Given the description of an element on the screen output the (x, y) to click on. 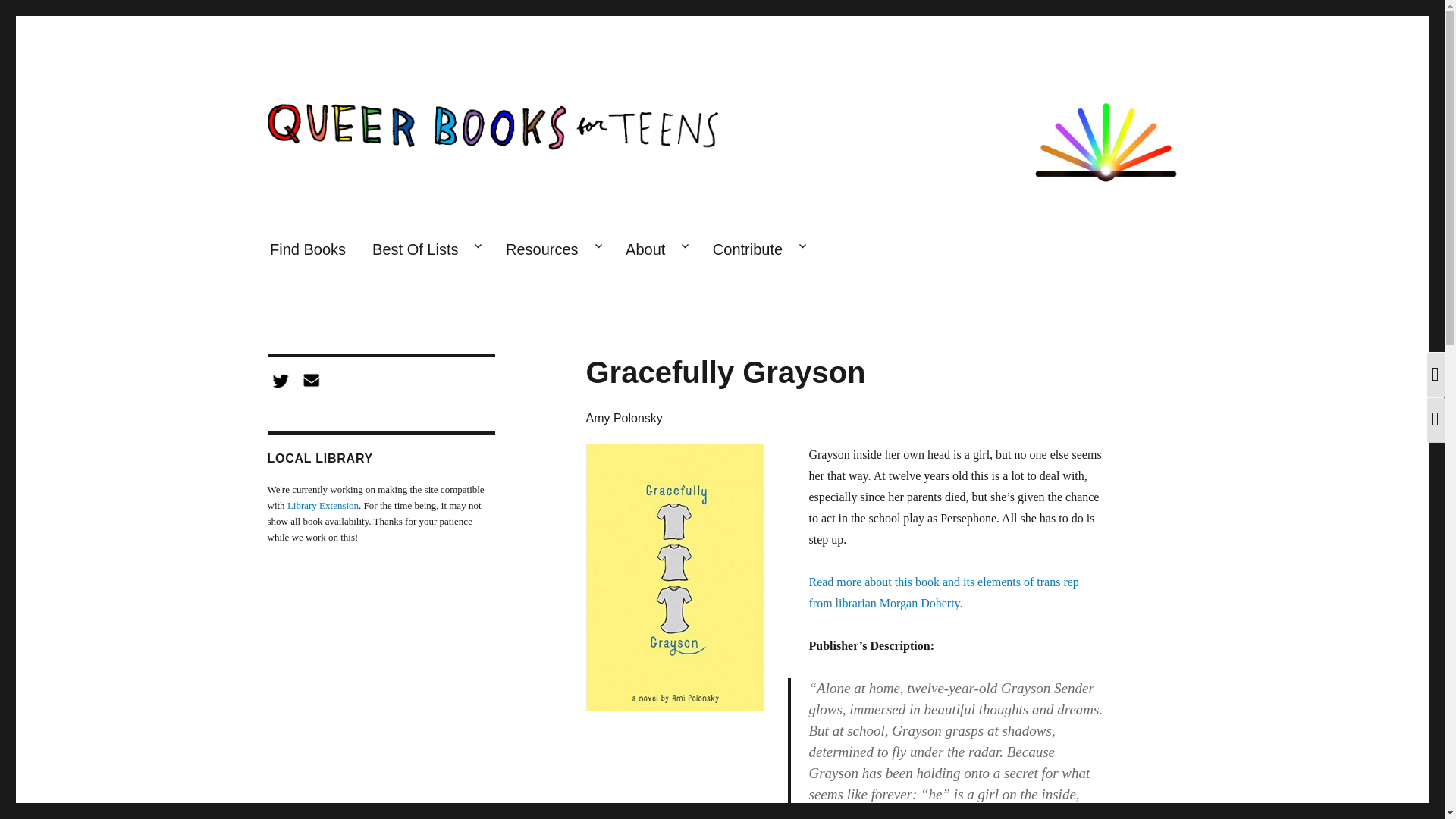
Find Books (307, 250)
Best Of Lists (426, 250)
Contribute (757, 250)
Resources (551, 250)
Library Extension (322, 505)
About (656, 250)
